Given the description of an element on the screen output the (x, y) to click on. 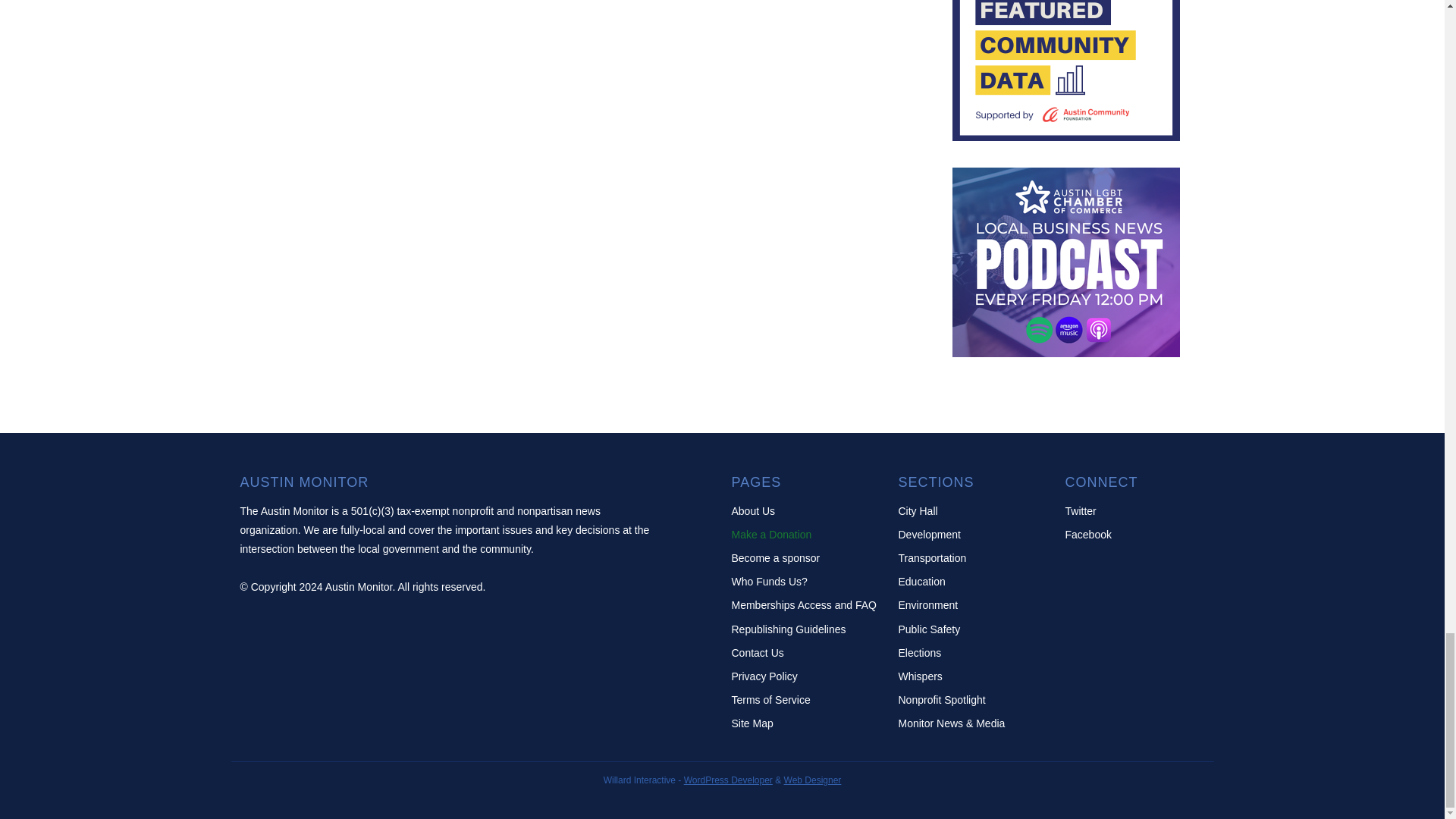
Web Designer (812, 779)
WordPress Developer (728, 779)
